Given the description of an element on the screen output the (x, y) to click on. 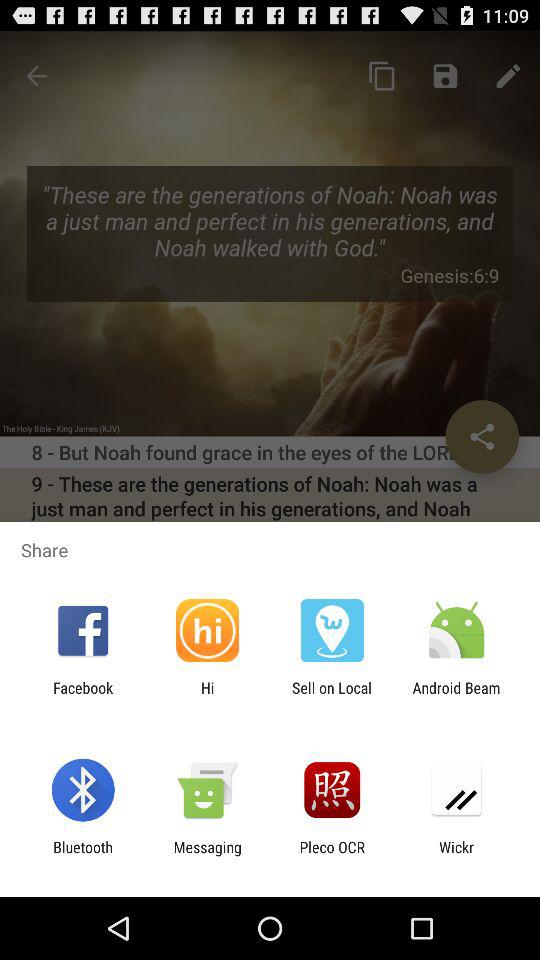
flip to bluetooth item (82, 856)
